Given the description of an element on the screen output the (x, y) to click on. 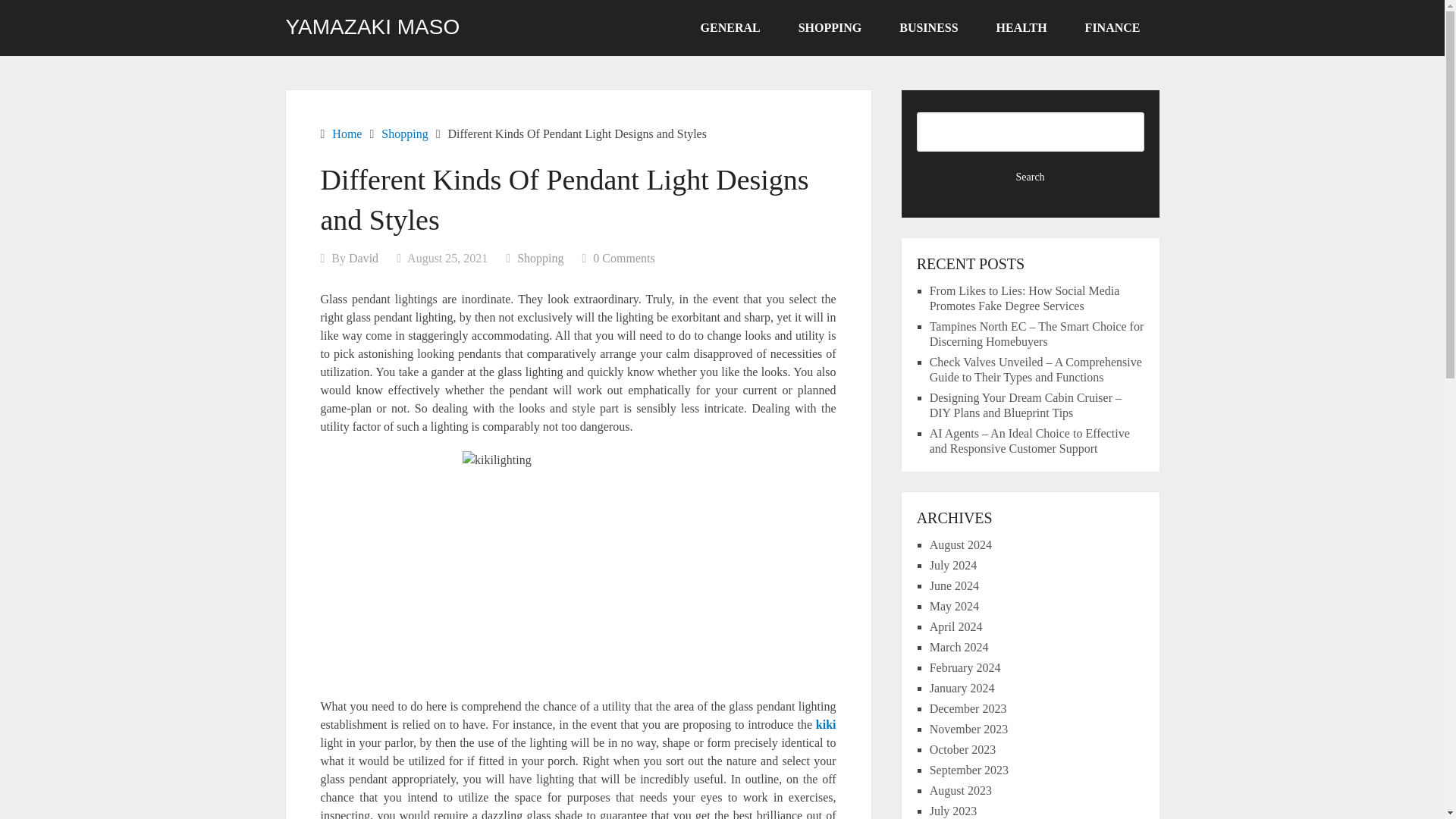
September 2023 (969, 769)
March 2024 (959, 646)
Search (1030, 176)
GENERAL (729, 28)
Posts by David (363, 257)
Home (346, 133)
HEALTH (1020, 28)
Shopping (539, 257)
July 2024 (953, 564)
0 Comments (622, 257)
